Given the description of an element on the screen output the (x, y) to click on. 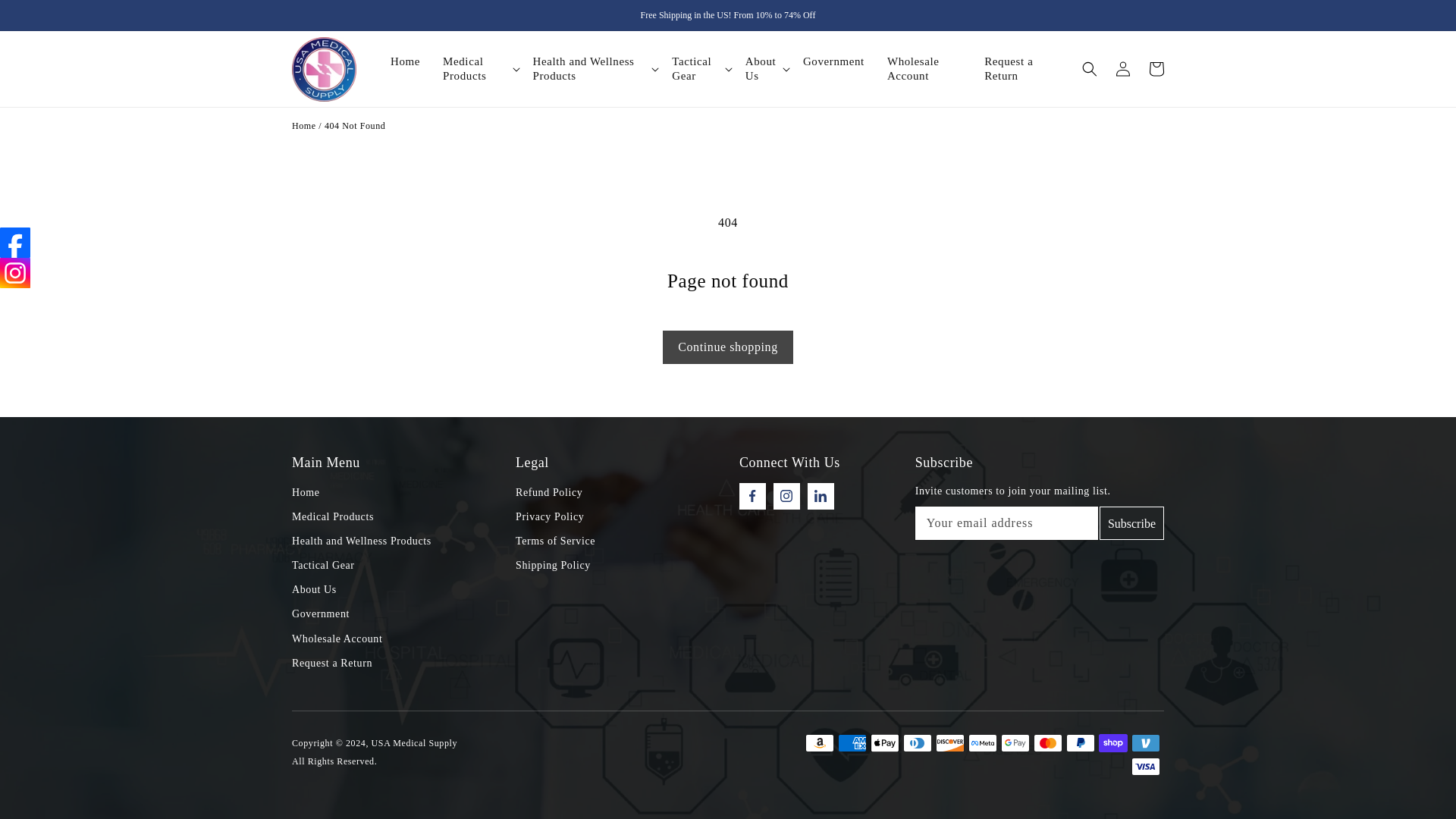
Meta Pay (982, 742)
Diners Club (916, 742)
American Express (852, 742)
Instagram (15, 272)
Facebook (15, 242)
Home (414, 60)
PayPal (1079, 742)
Google Pay (1015, 742)
Discover (949, 742)
Shop Pay (1112, 742)
